Given the description of an element on the screen output the (x, y) to click on. 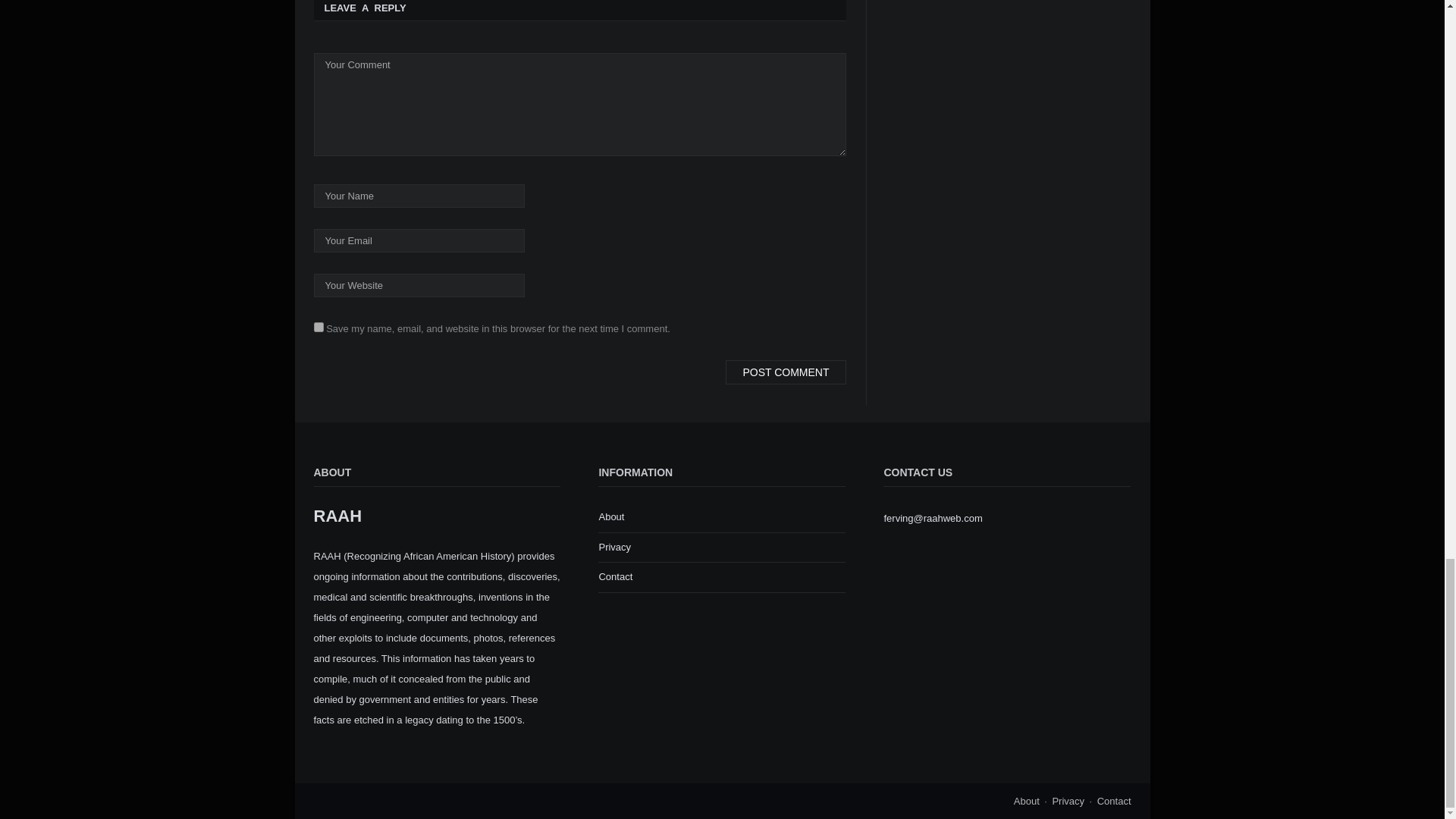
Post Comment (785, 372)
yes (318, 327)
